Given the description of an element on the screen output the (x, y) to click on. 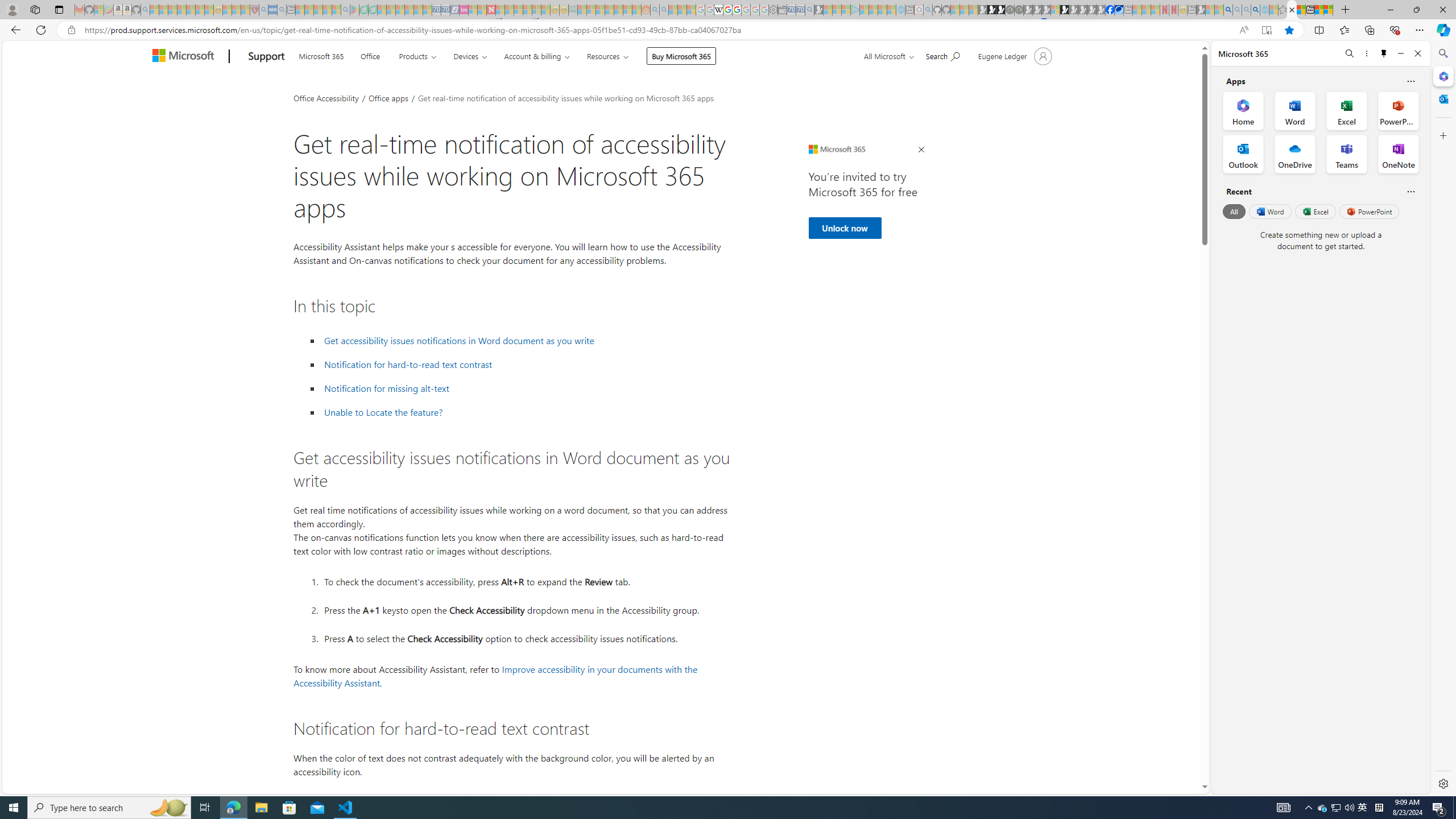
PowerPoint Office App (1398, 110)
Excel Office App (1346, 110)
Support (266, 56)
Word (1269, 210)
